Given the description of an element on the screen output the (x, y) to click on. 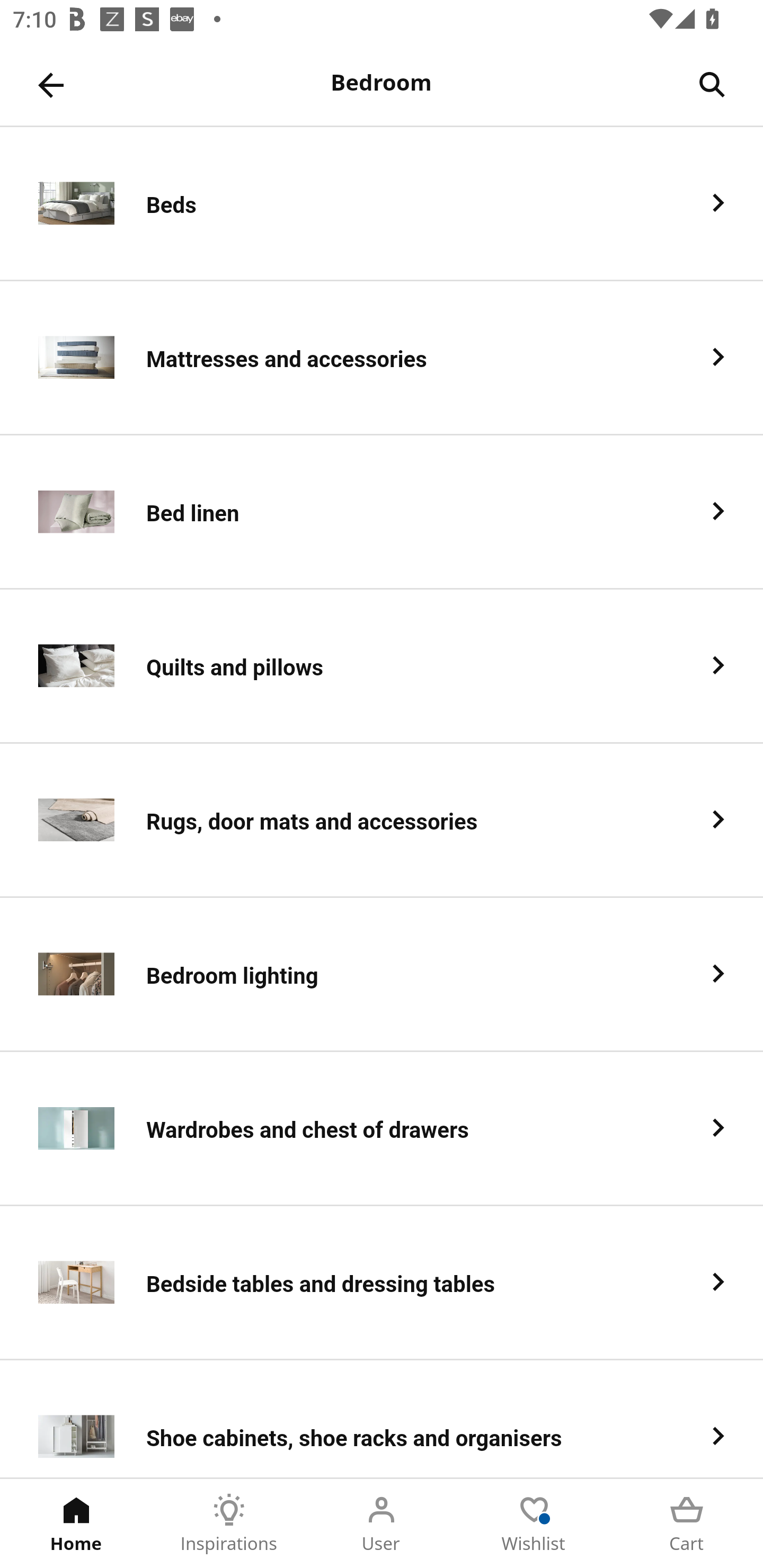
Beds (381, 203)
Mattresses and accessories (381, 357)
Bed linen (381, 512)
Quilts and pillows (381, 666)
Rugs, door mats and accessories (381, 820)
Bedroom lighting (381, 975)
Wardrobes and chest of drawers (381, 1128)
Bedside tables and dressing tables (381, 1283)
Shoe cabinets, shoe racks and organisers (381, 1419)
Home
Tab 1 of 5 (76, 1522)
Inspirations
Tab 2 of 5 (228, 1522)
User
Tab 3 of 5 (381, 1522)
Wishlist
Tab 4 of 5 (533, 1522)
Cart
Tab 5 of 5 (686, 1522)
